Given the description of an element on the screen output the (x, y) to click on. 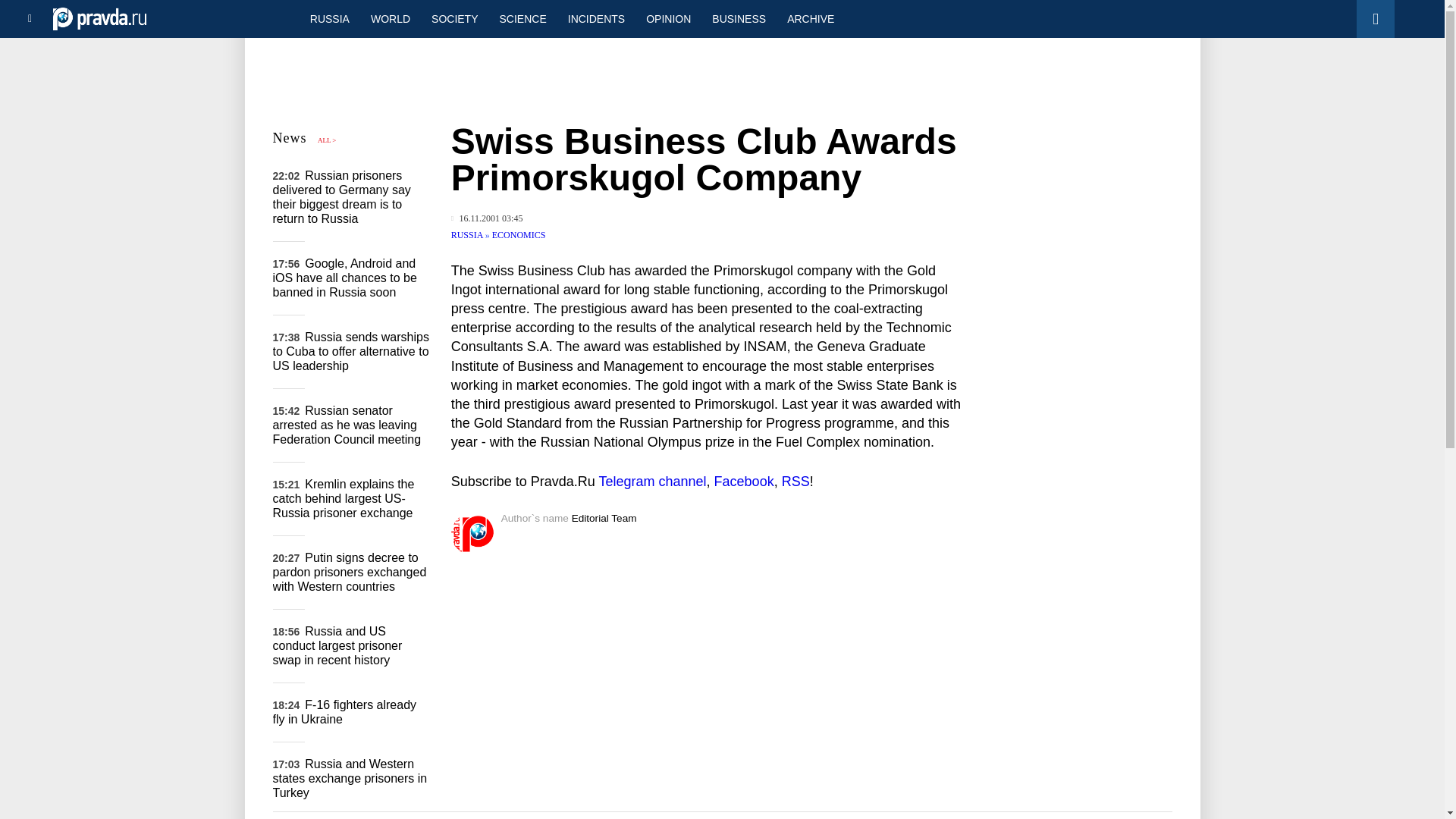
Russia and Western states exchange prisoners in Turkey (350, 778)
Editorial Team (604, 518)
F-16 fighters already fly in Ukraine (344, 711)
RUSSIA (329, 18)
OPINION (667, 18)
SOCIETY (453, 18)
